Given the description of an element on the screen output the (x, y) to click on. 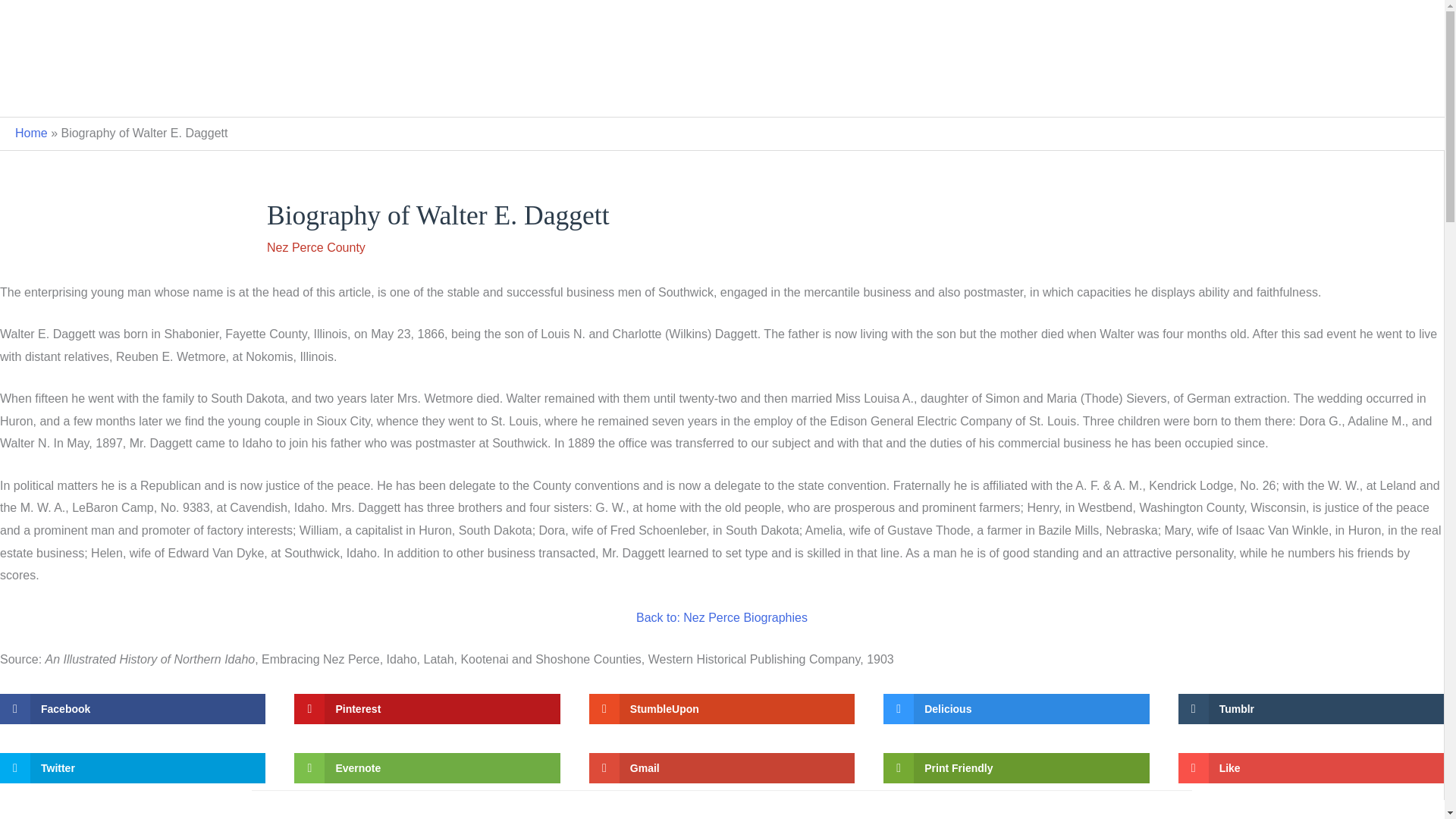
Delicious (1015, 708)
Idaho Genealogy Queries (392, 92)
Nez Perce County (1071, 92)
Bannock County (634, 92)
Pinterest (426, 708)
Alturas County (526, 92)
Home (31, 132)
Tumblr (1310, 708)
Evernote (426, 767)
Twitter (132, 767)
